Given the description of an element on the screen output the (x, y) to click on. 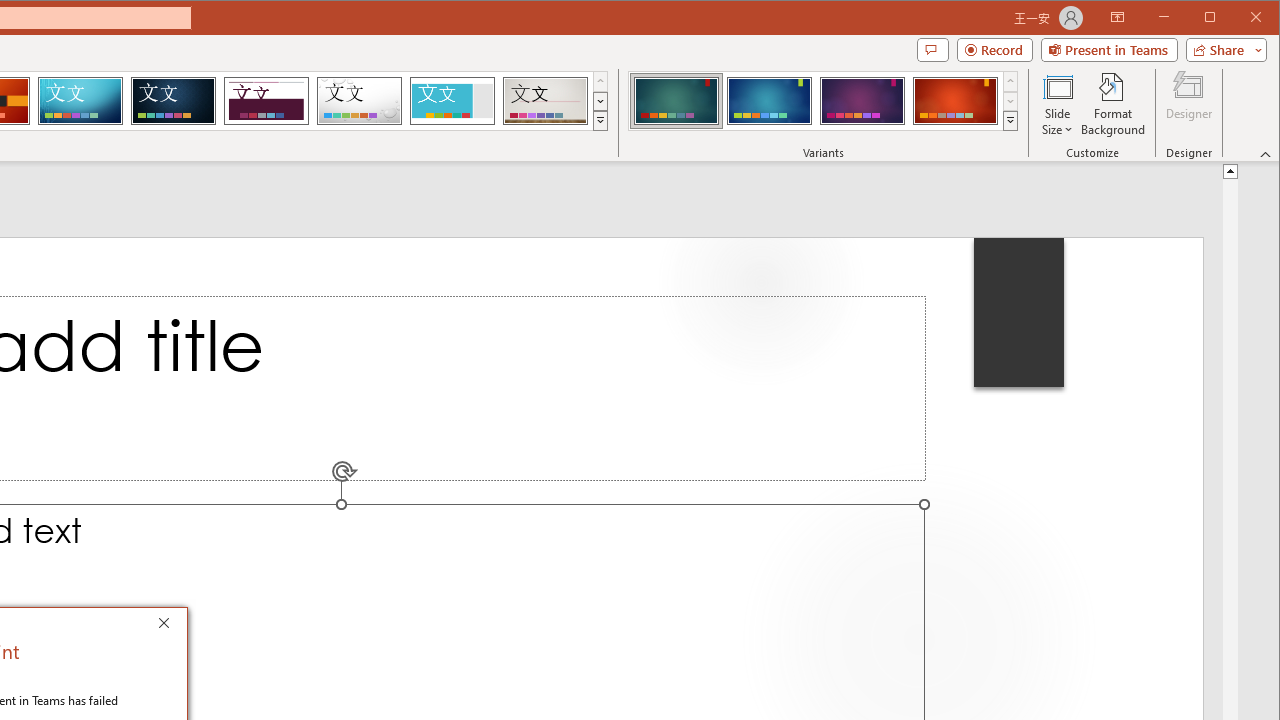
Themes (600, 120)
Damask (173, 100)
Ion Variant 3 (862, 100)
Droplet (359, 100)
Ion Variant 4 (955, 100)
Ion Variant 1 (676, 100)
Ion Variant 2 (769, 100)
AutomationID: ThemeVariantsGallery (824, 101)
Circuit (80, 100)
Maximize (1238, 18)
Dividend (266, 100)
